Given the description of an element on the screen output the (x, y) to click on. 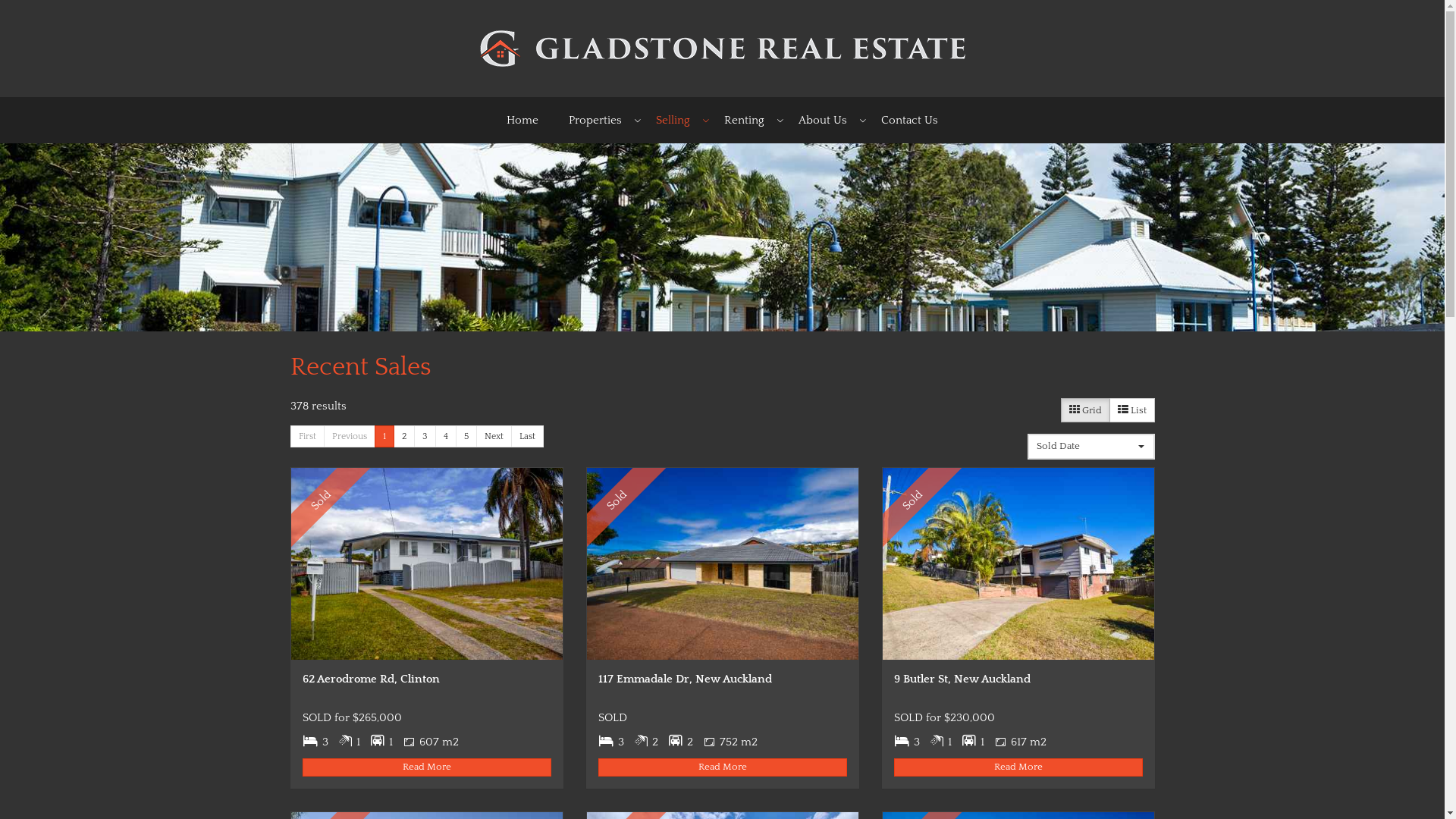
62 Aerodrome Rd, Clinton Element type: hover (426, 563)
Next Element type: text (493, 436)
First Element type: text (306, 436)
Gladstone Real Estate Element type: hover (721, 46)
Read More Element type: text (721, 767)
Read More Element type: text (425, 767)
Contact Us Element type: text (909, 120)
5 Element type: text (465, 436)
117 Emmadale Dr, New Auckland Element type: hover (722, 563)
About Us Element type: text (824, 120)
2 Element type: text (403, 436)
Read More Element type: text (1017, 767)
Previous Element type: text (348, 436)
Properties Element type: text (596, 120)
Renting Element type: text (746, 120)
4 Element type: text (445, 436)
Home Element type: text (522, 120)
Last Element type: text (527, 436)
Sold Date
  Element type: text (1090, 446)
9 Butler St, New Auckland Element type: hover (1018, 563)
Selling Element type: text (674, 120)
3 Element type: text (425, 436)
1 Element type: text (384, 436)
